Given the description of an element on the screen output the (x, y) to click on. 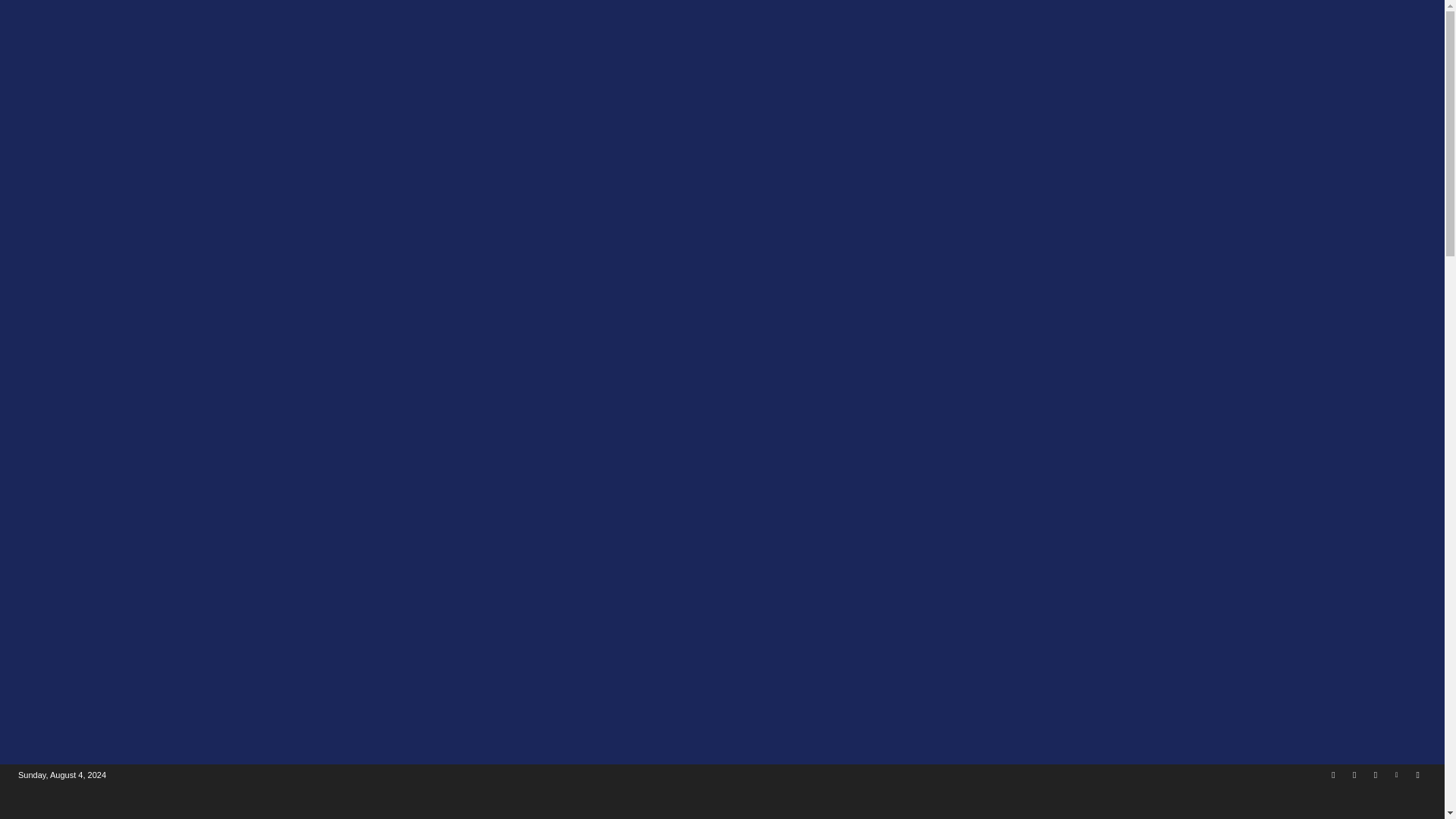
Youtube (1417, 774)
Twitter (1375, 774)
Facebook (1333, 774)
Vimeo (1396, 774)
Instagram (1353, 774)
